Given the description of an element on the screen output the (x, y) to click on. 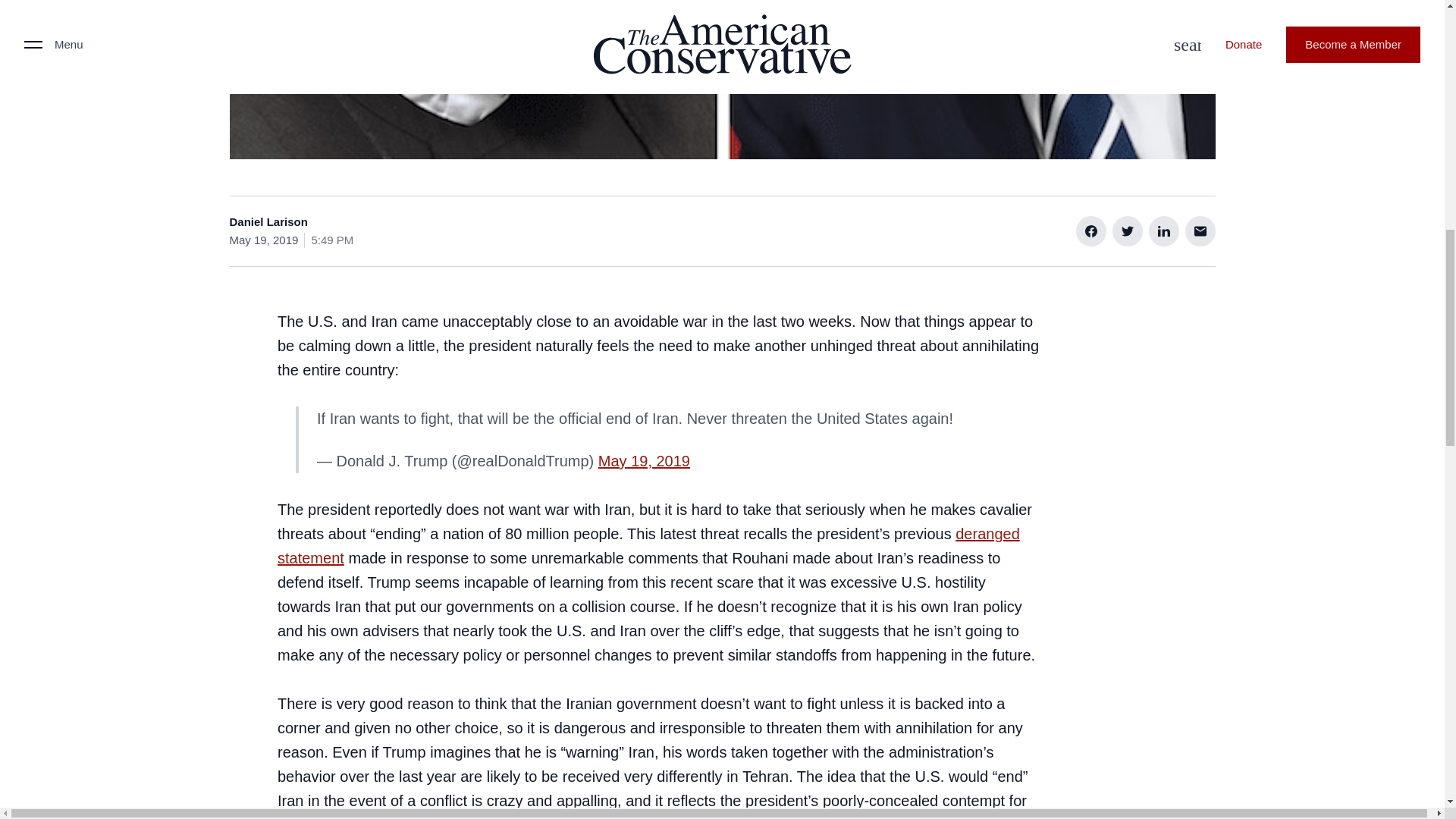
deranged statement (649, 545)
Daniel Larison (267, 222)
May 19, 2019 (644, 460)
